Given the description of an element on the screen output the (x, y) to click on. 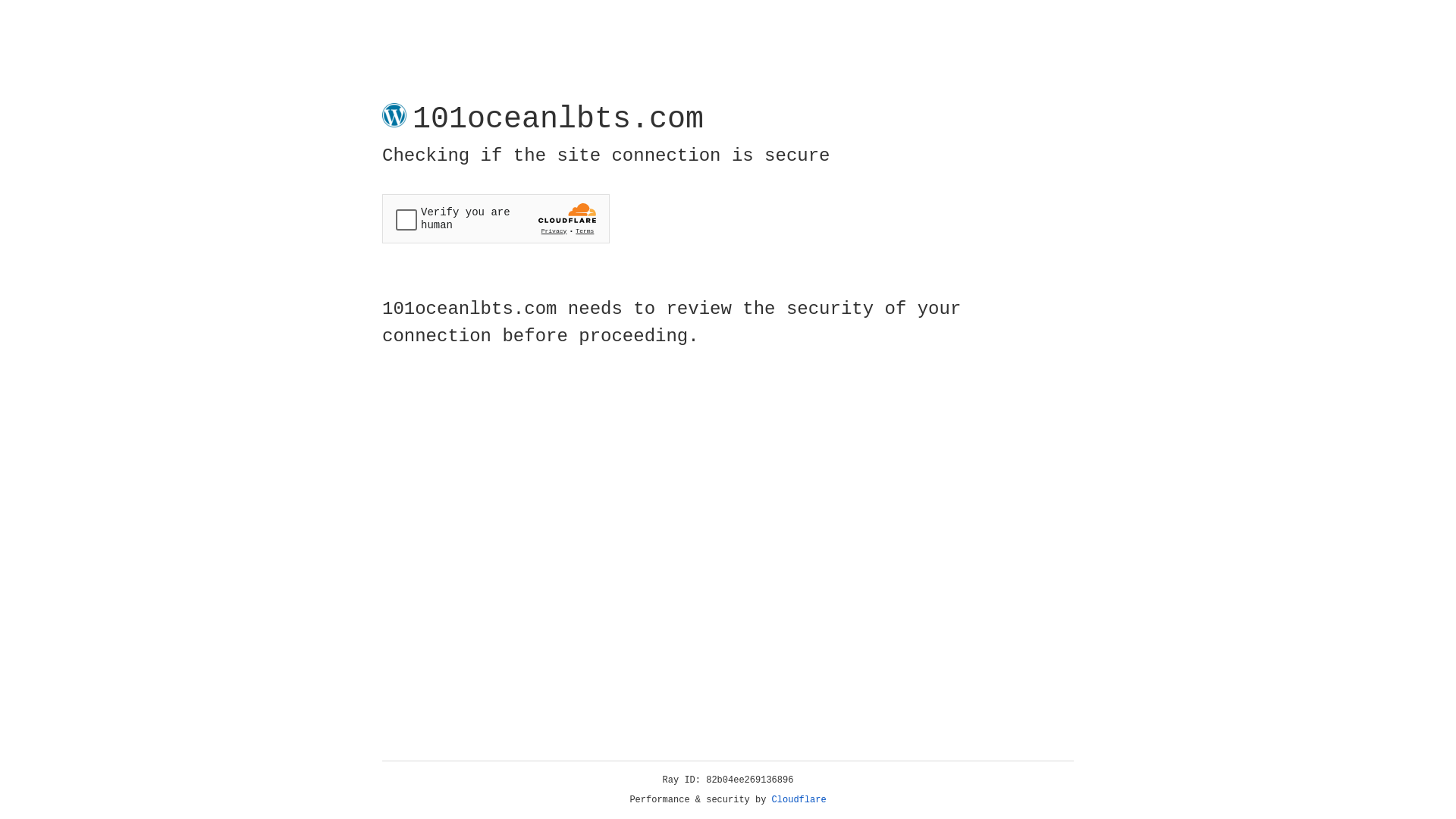
Widget containing a Cloudflare security challenge Element type: hover (495, 218)
Cloudflare Element type: text (798, 799)
